Given the description of an element on the screen output the (x, y) to click on. 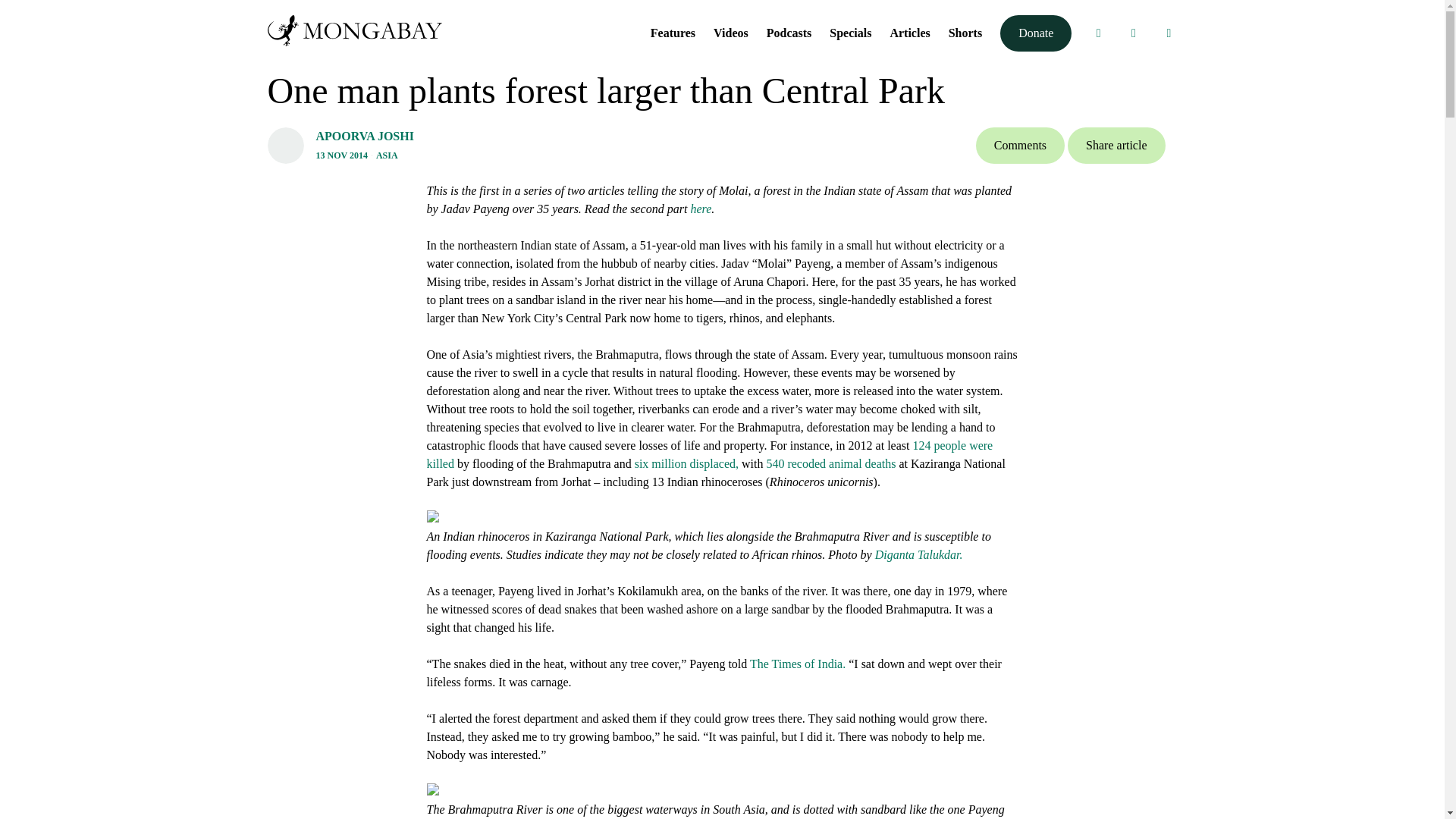
Articles (909, 32)
Shorts (965, 32)
Specials (849, 32)
Podcasts (789, 32)
Donate (1035, 33)
Videos (730, 32)
Features (672, 32)
